Given the description of an element on the screen output the (x, y) to click on. 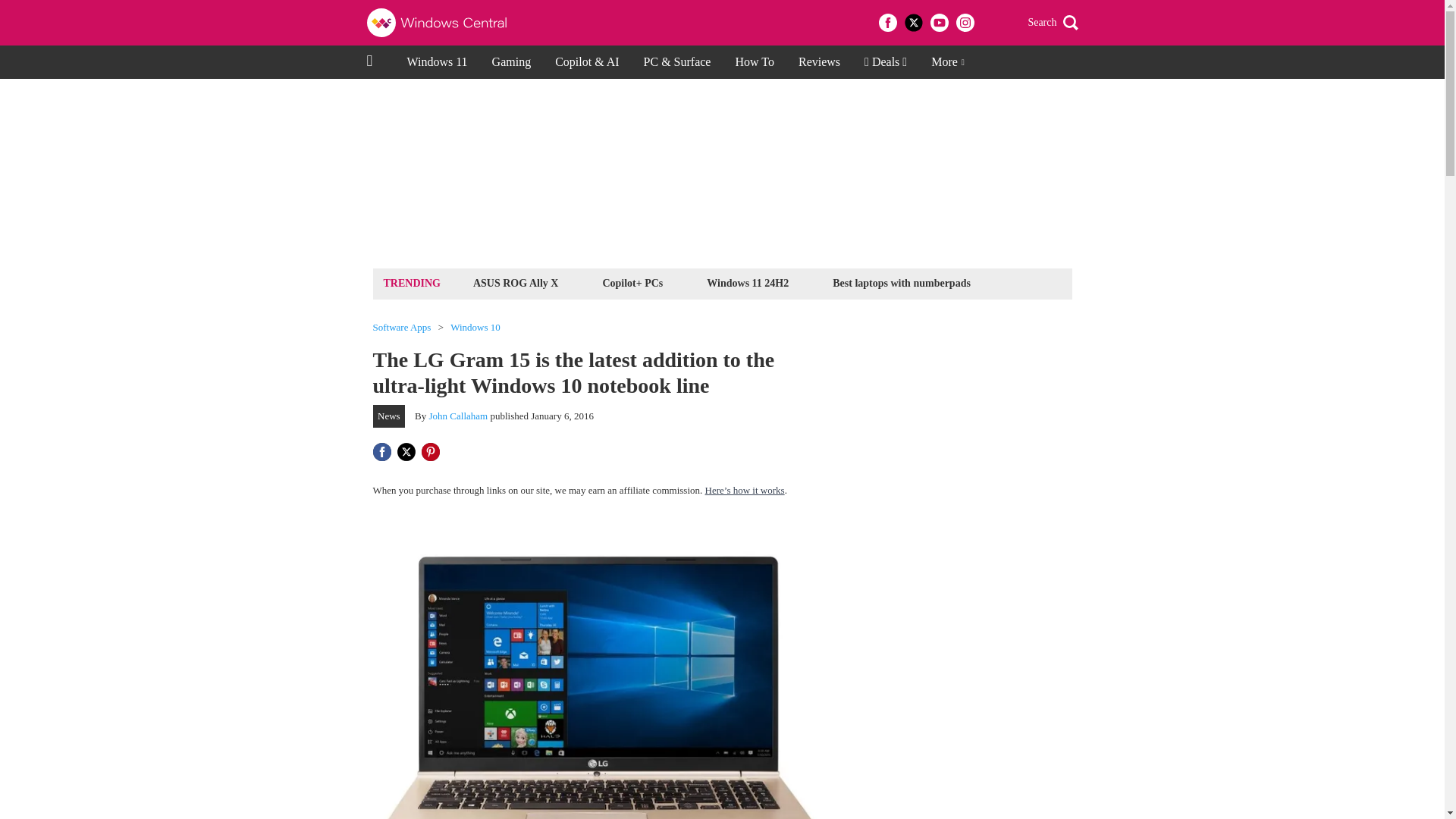
Windows 11 24H2 (747, 282)
ASUS ROG Ally X (515, 282)
How To (754, 61)
Reviews (818, 61)
Best laptops with numberpads (901, 282)
RSS (990, 22)
News (389, 415)
Windows 10 (474, 327)
Software Apps (401, 327)
Windows 11 (436, 61)
